Given the description of an element on the screen output the (x, y) to click on. 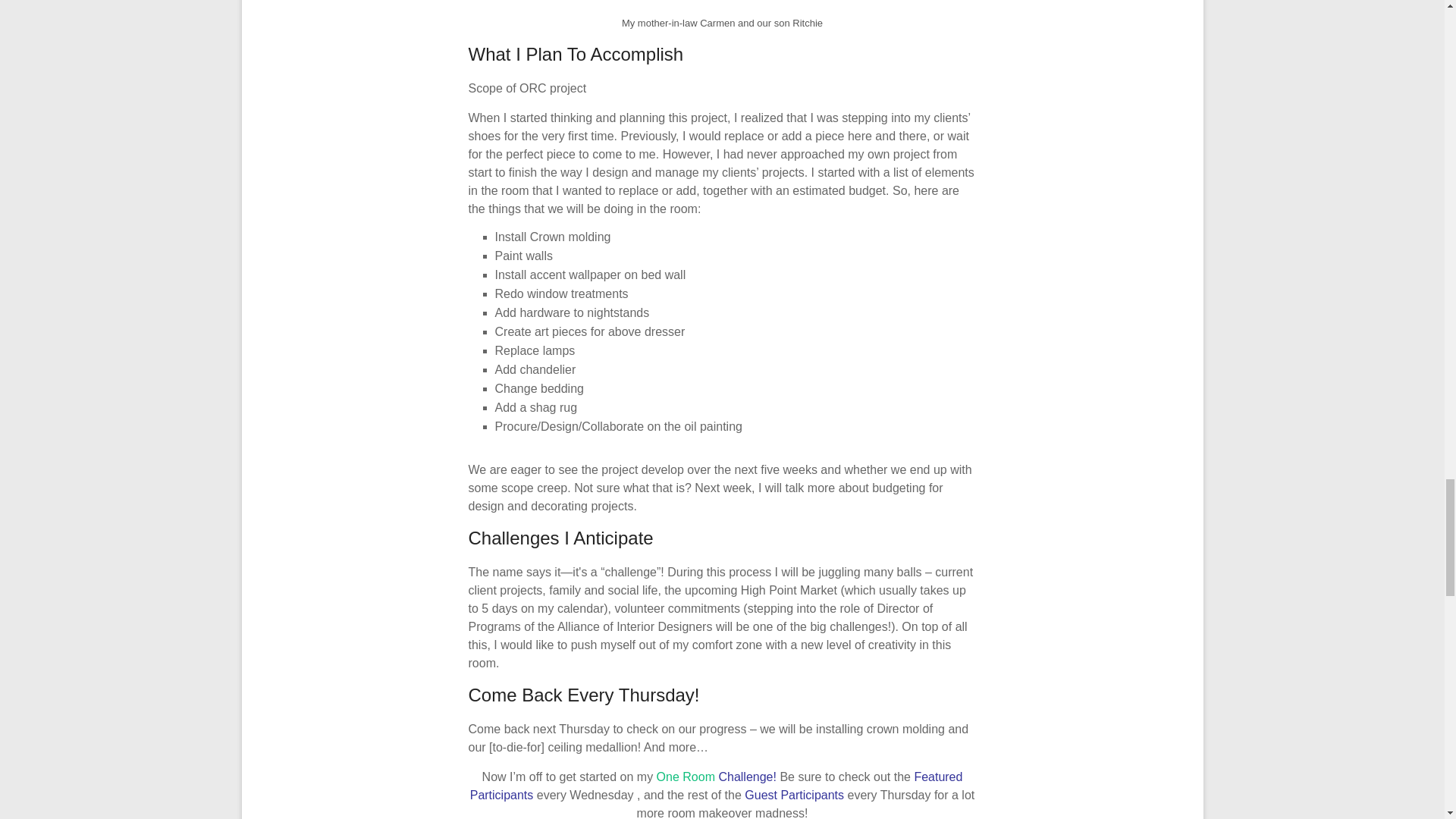
Featured Participants (716, 785)
Guest Participants  (795, 794)
One Room Challenge! (718, 776)
